Given the description of an element on the screen output the (x, y) to click on. 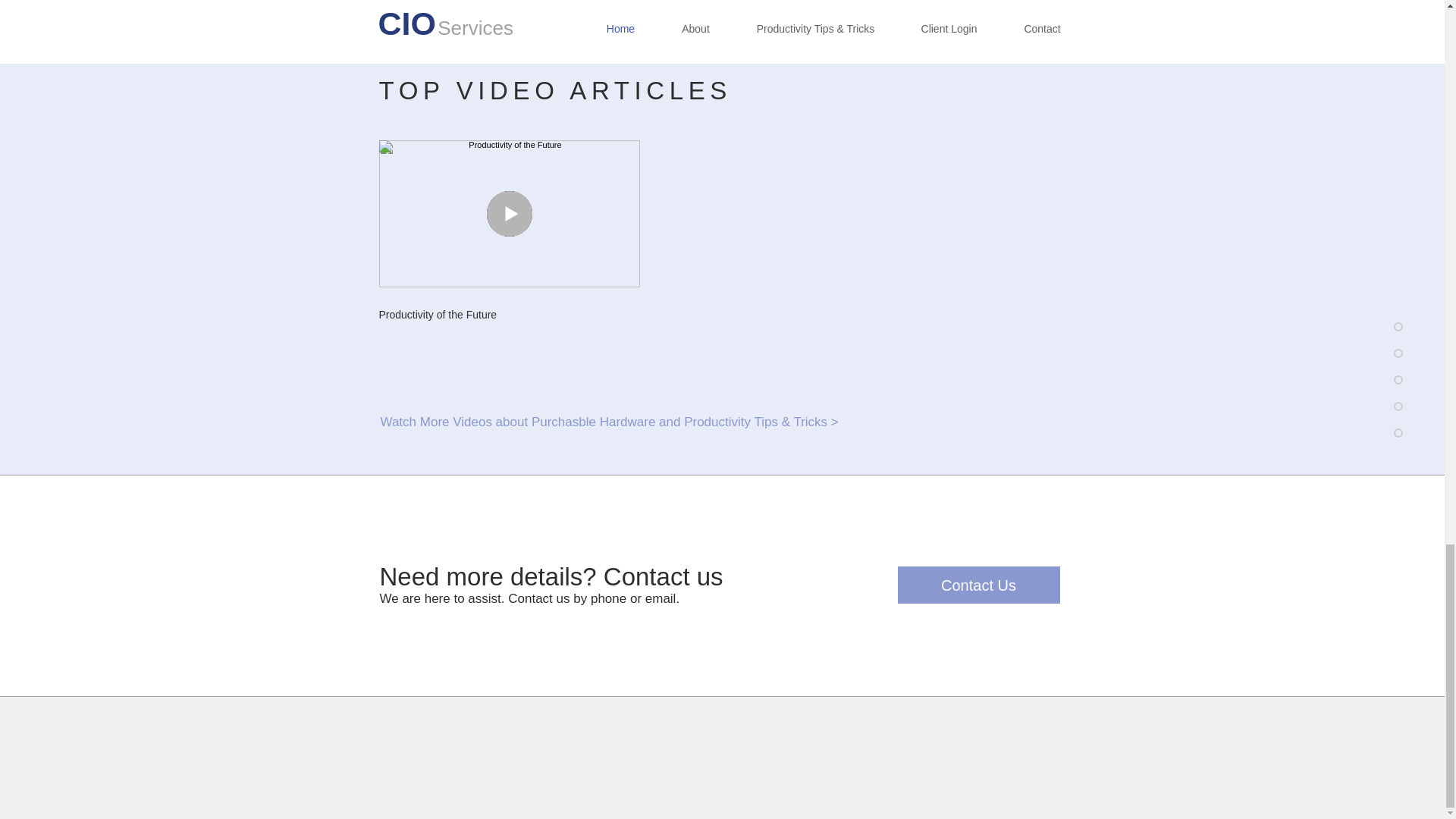
Contact Us (978, 584)
Productivity of the Future (509, 314)
